Given the description of an element on the screen output the (x, y) to click on. 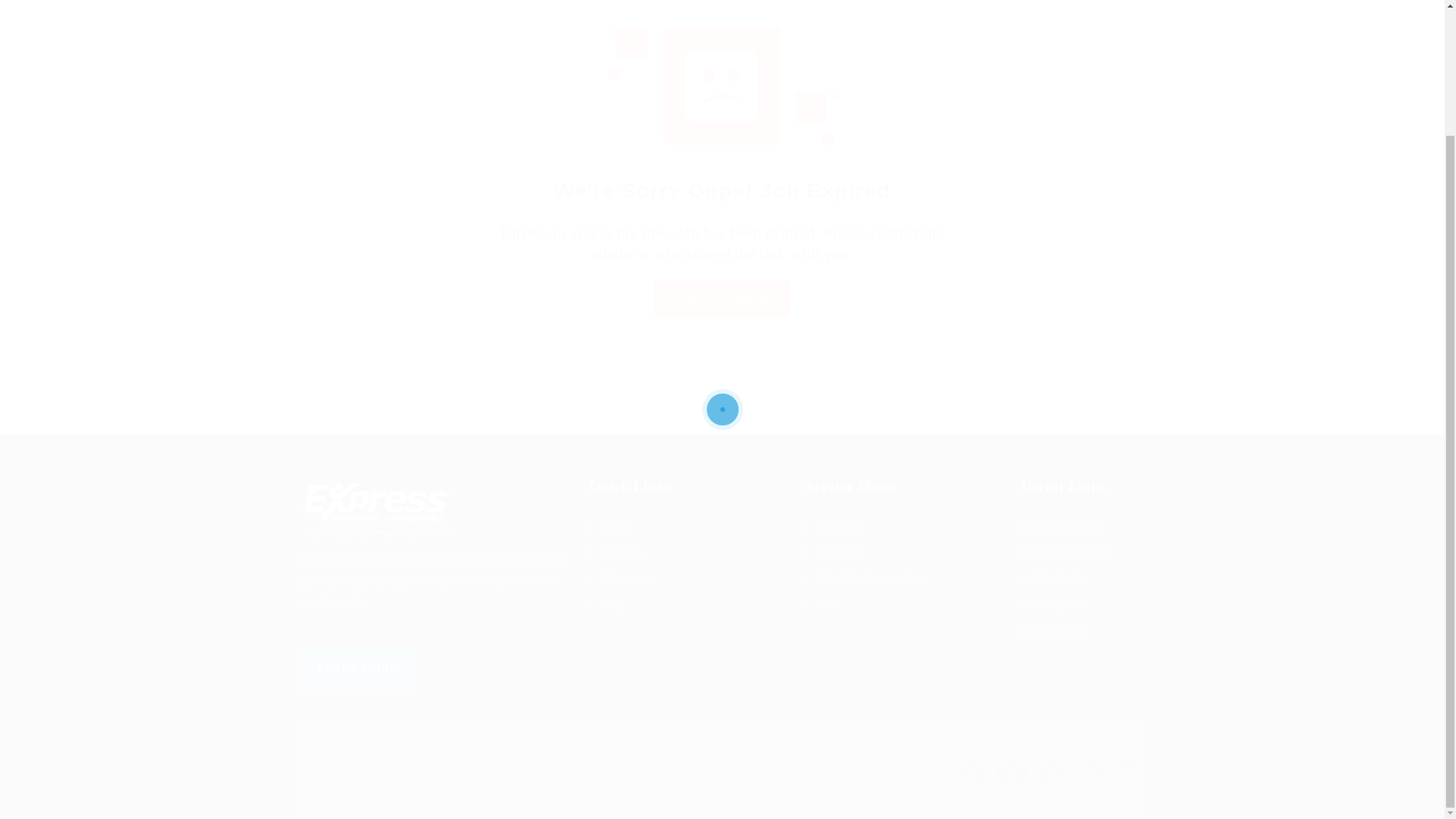
EVA (901, 604)
Blog (686, 604)
Back to Home (721, 299)
Franchise Opportunities (901, 578)
Find Staff (901, 526)
Home (686, 526)
EVA (901, 604)
About us (686, 552)
Compliance (1082, 604)
Privacy Policy (1082, 526)
